Given the description of an element on the screen output the (x, y) to click on. 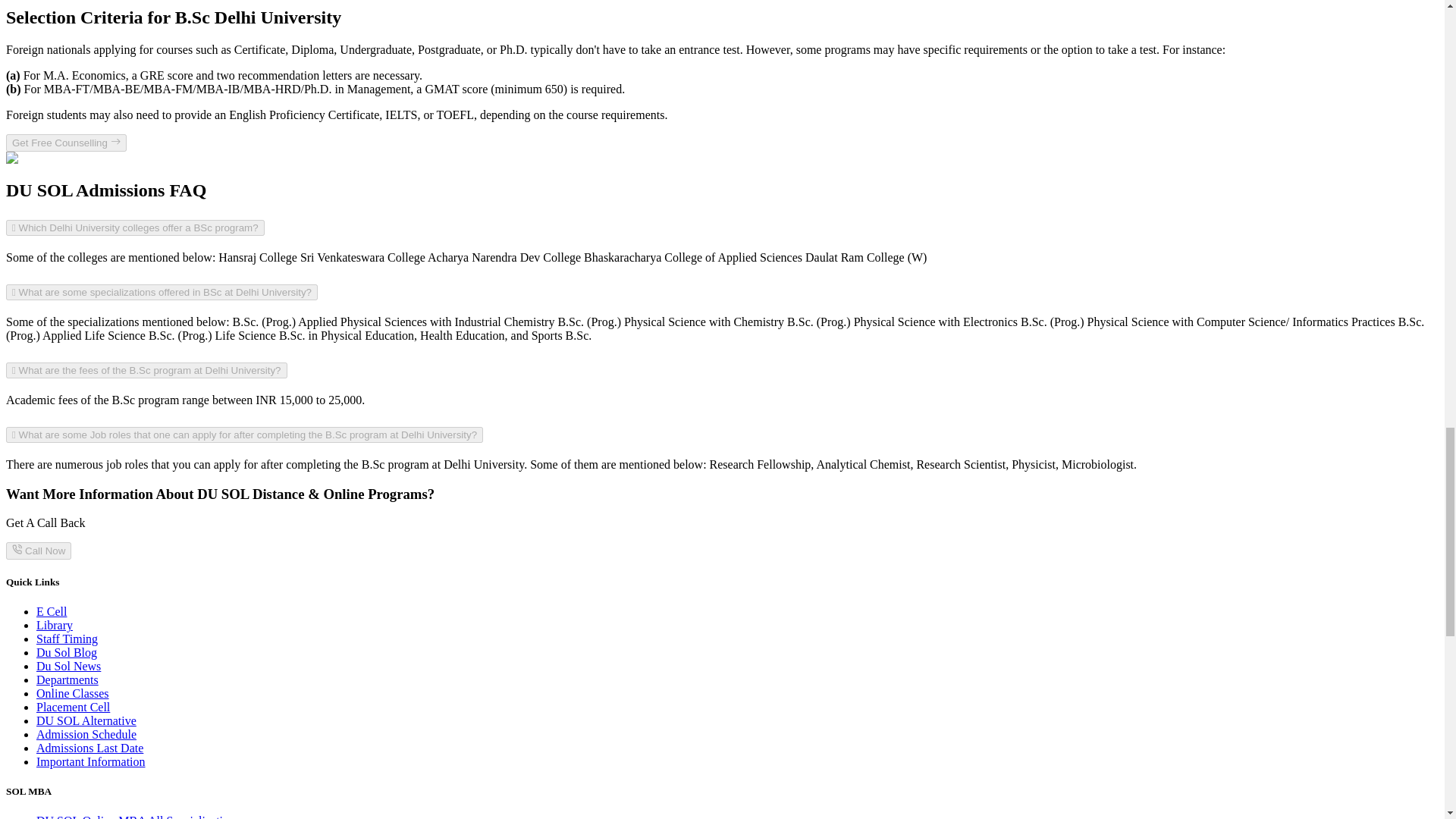
Admissions Last Date (89, 748)
Du Sol News (68, 666)
DU SOL Alternative (86, 720)
Online Classes (72, 693)
Library (54, 625)
E Cell (51, 611)
Du Sol Blog (66, 652)
Admission Schedule (86, 734)
Get Free Counselling (65, 142)
Get Free Counselling (65, 142)
DU SOL Online MBA All Specialization (135, 816)
Call Now (38, 550)
Call Now (38, 550)
Departments (67, 679)
Placement Cell (73, 707)
